Given the description of an element on the screen output the (x, y) to click on. 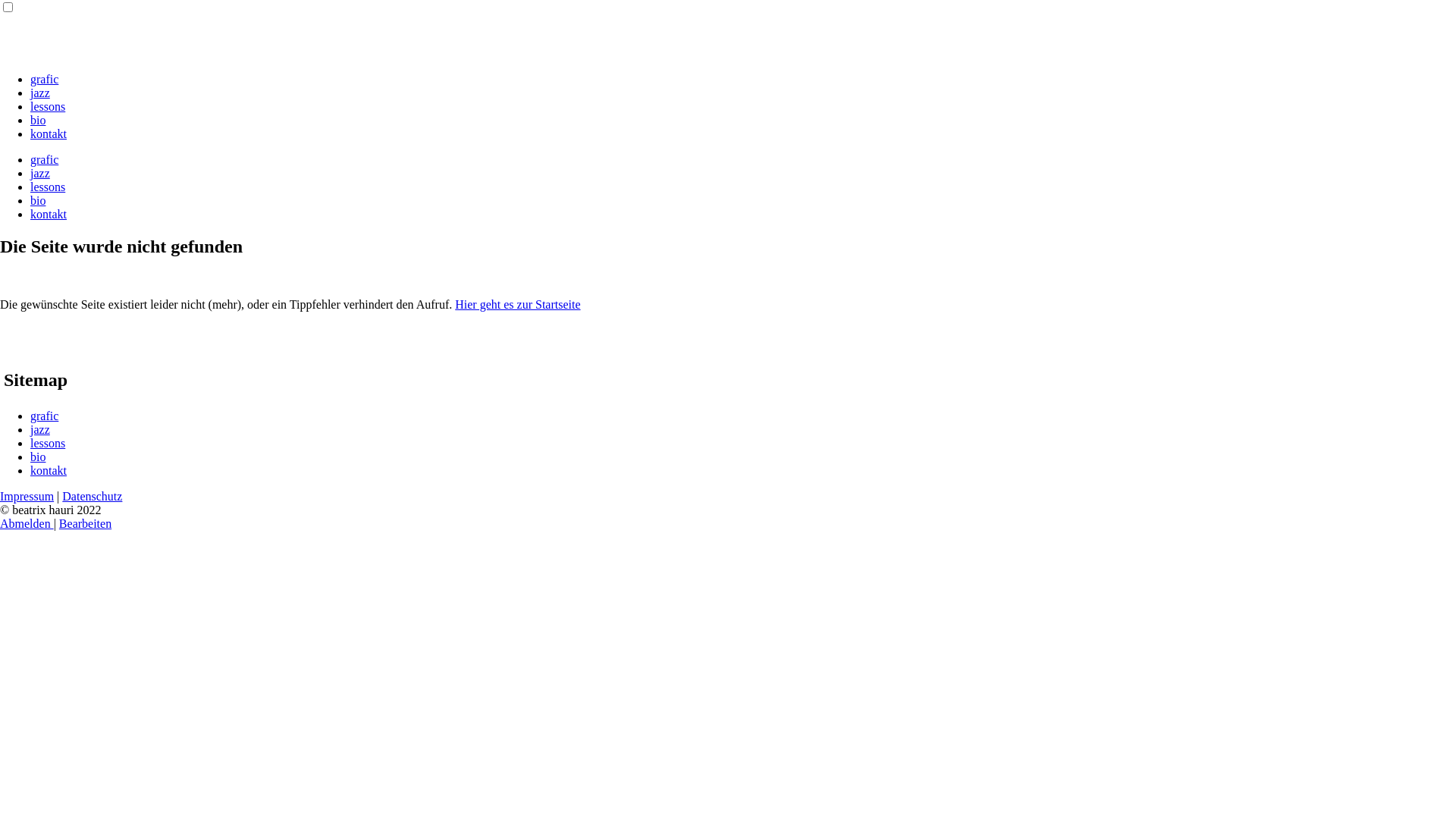
jazz Element type: text (40, 172)
kontakt Element type: text (48, 133)
lessons Element type: text (47, 442)
grafic Element type: text (44, 159)
Hier geht es zur Startseite Element type: text (517, 304)
kontakt Element type: text (48, 470)
Datenschutz Element type: text (92, 495)
bio Element type: text (37, 119)
Bearbeiten Element type: text (85, 523)
lessons Element type: text (47, 106)
kontakt Element type: text (48, 213)
Impressum Element type: text (26, 495)
lessons Element type: text (47, 186)
grafic Element type: text (44, 415)
bio Element type: text (37, 200)
bio Element type: text (37, 456)
jazz Element type: text (40, 429)
Abmelden Element type: text (26, 523)
grafic Element type: text (44, 78)
jazz Element type: text (40, 92)
